Given the description of an element on the screen output the (x, y) to click on. 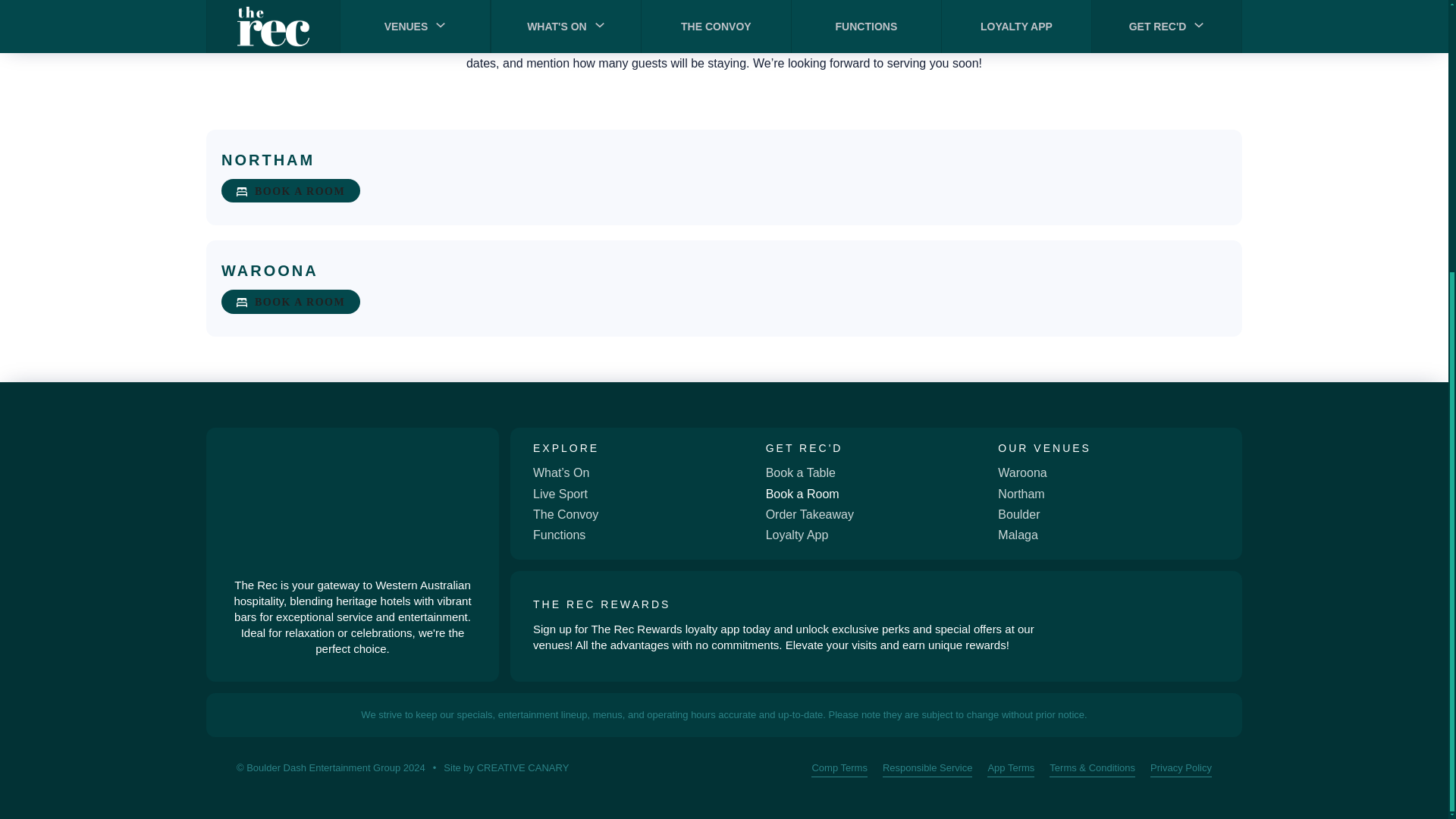
BOOK A ROOM (290, 301)
Learn more about Northam (267, 159)
Download The Rec Loyalty App on the Google Play Store (1162, 646)
Book a Room at Northam (290, 191)
Book a Room at Waroona (290, 301)
Download The Rec Loyalty App on the Apple App Store (1162, 604)
Learn more about Waroona (269, 270)
BOOK A ROOM (290, 191)
NORTHAM (267, 159)
WAROONA (269, 270)
